Given the description of an element on the screen output the (x, y) to click on. 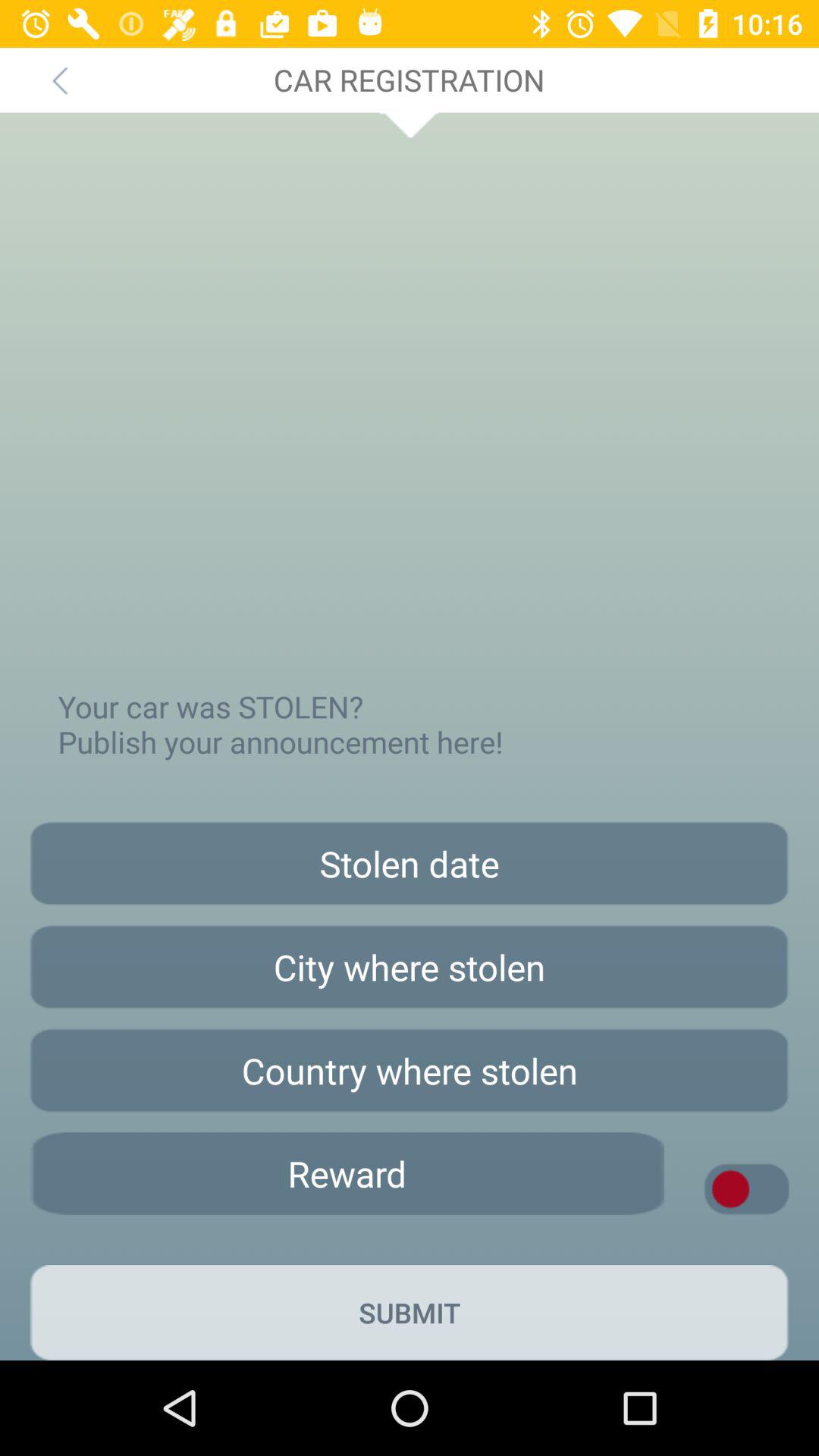
enter city (409, 966)
